Given the description of an element on the screen output the (x, y) to click on. 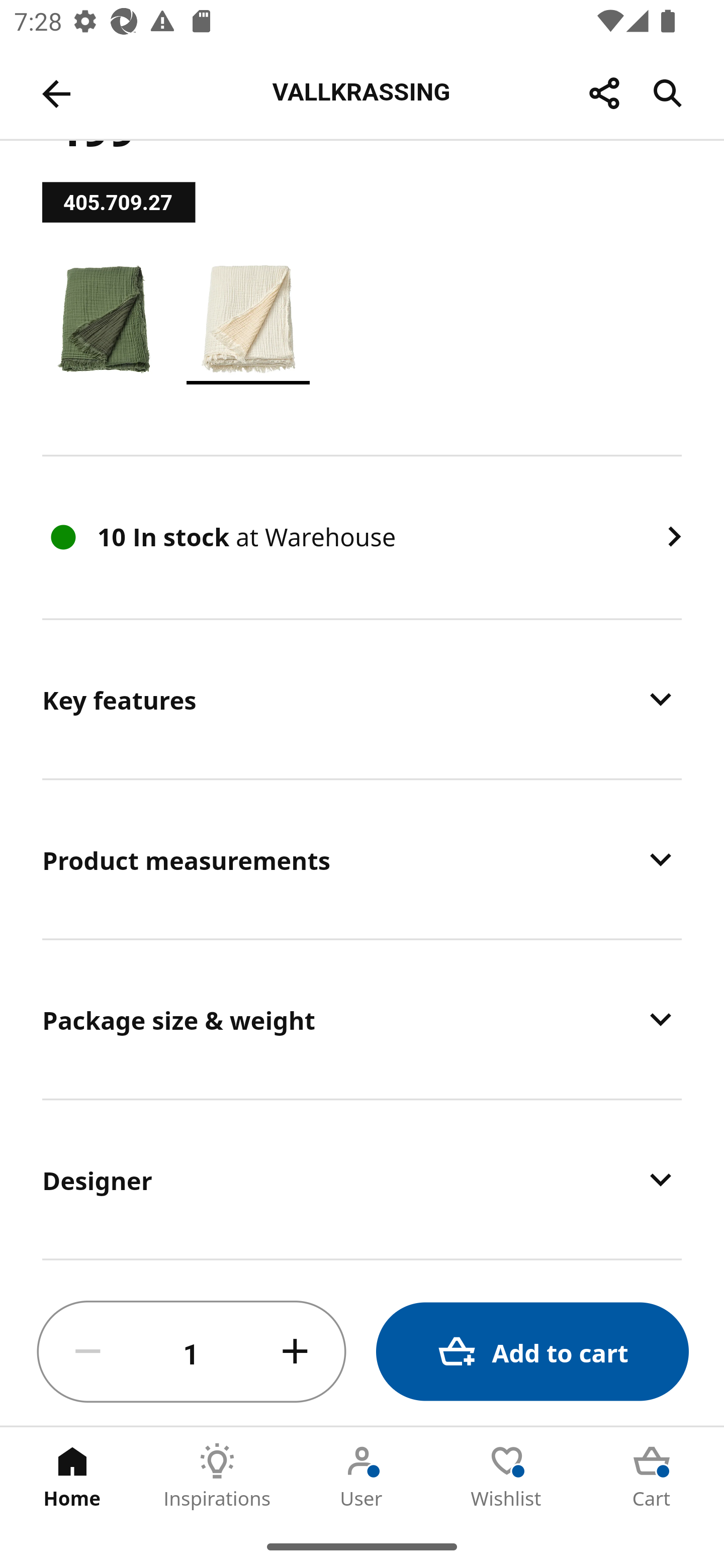
10 In stock at Warehouse (361, 536)
Key features (361, 698)
Product measurements (361, 859)
Package size & weight (361, 1019)
Designer (361, 1179)
Add to cart (531, 1352)
1 (191, 1352)
Home
Tab 1 of 5 (72, 1476)
Inspirations
Tab 2 of 5 (216, 1476)
User
Tab 3 of 5 (361, 1476)
Wishlist
Tab 4 of 5 (506, 1476)
Cart
Tab 5 of 5 (651, 1476)
